Given the description of an element on the screen output the (x, y) to click on. 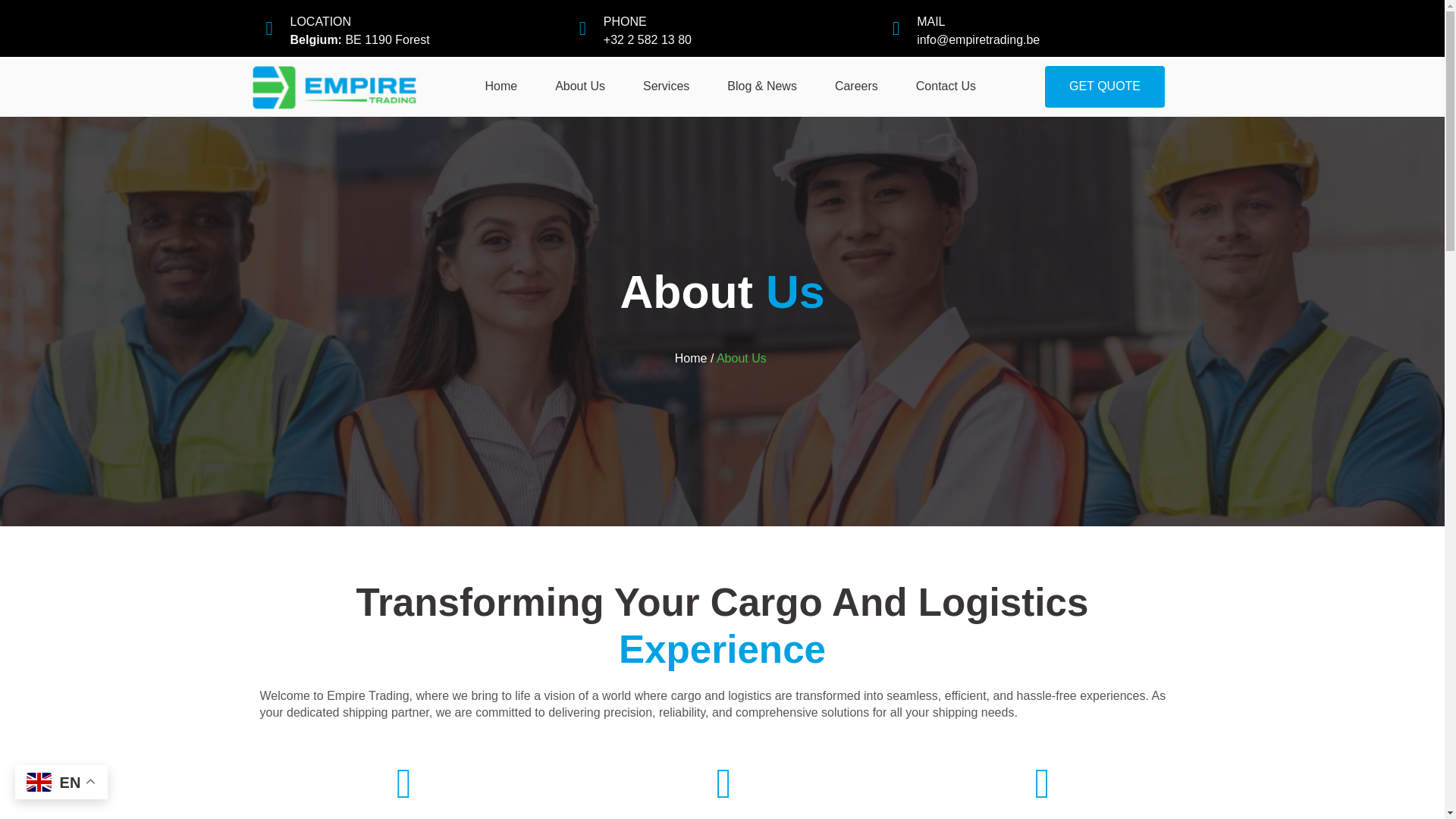
Services (665, 86)
EMPIRE LOGO (333, 86)
MAIL (930, 21)
About Us (722, 292)
Transforming Your Cargo And Logistics Experience (722, 625)
About Us (579, 86)
PHONE (625, 21)
About Us  (743, 358)
GET QUOTE (1104, 86)
LOCATION (319, 21)
Contact Us (945, 86)
Home (500, 86)
Careers (855, 86)
